Given the description of an element on the screen output the (x, y) to click on. 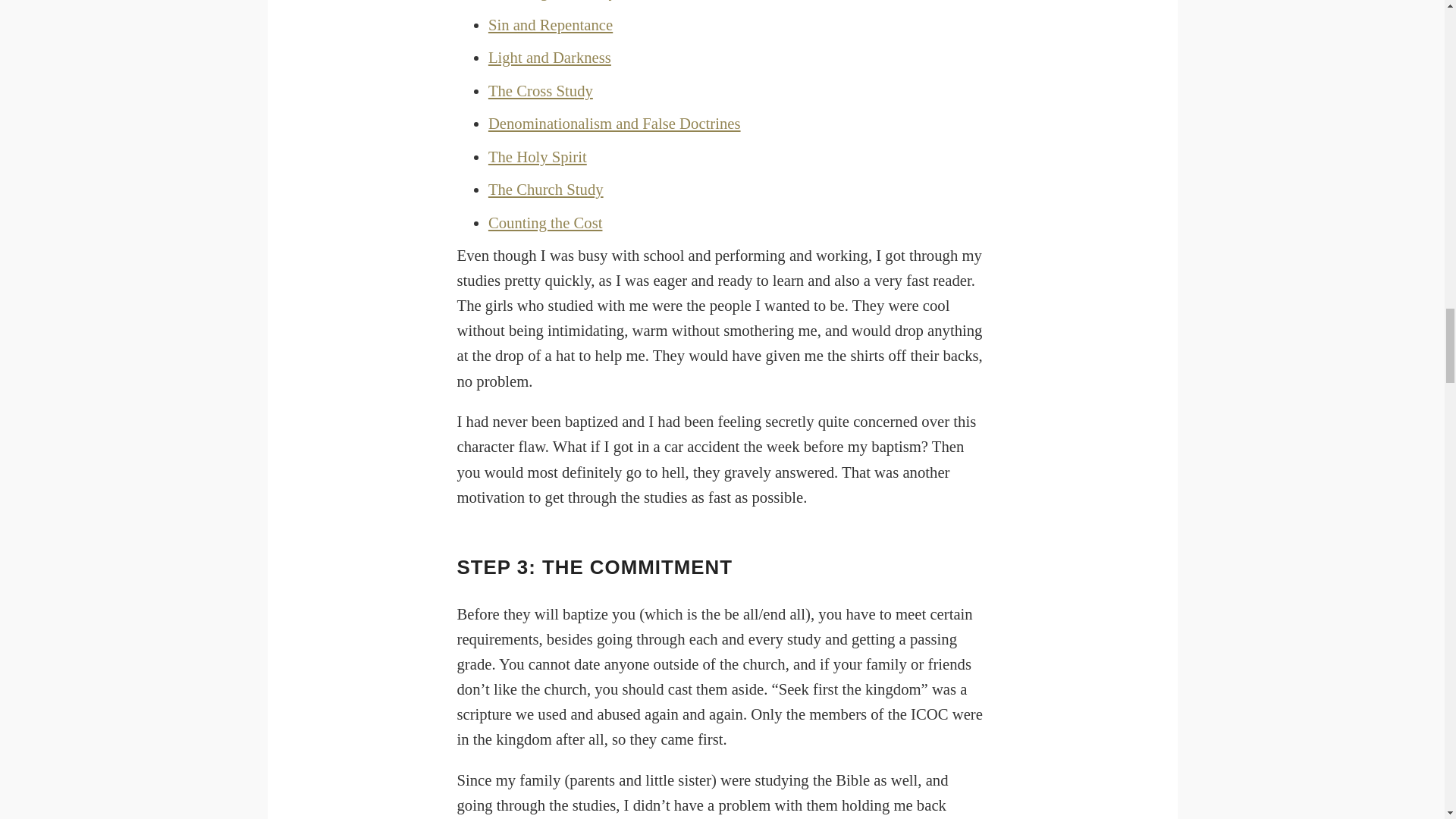
Sin and Repentance (549, 24)
The Church Study (545, 189)
The Holy Spirit (536, 156)
The Cross Study (539, 90)
Counting the Cost (544, 221)
Light and Darkness (549, 57)
Denominationalism and False Doctrines (614, 123)
